Given the description of an element on the screen output the (x, y) to click on. 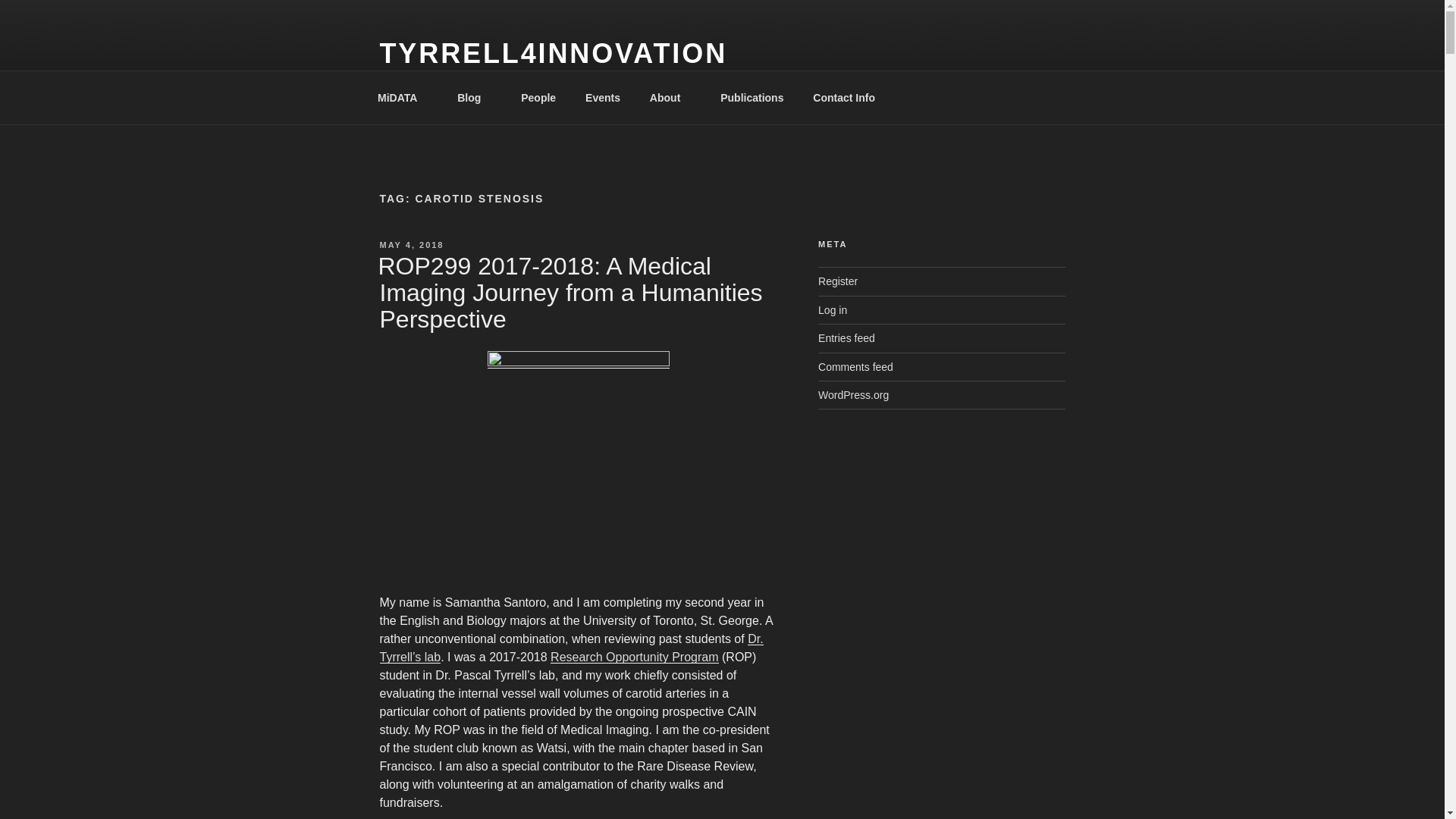
Research Opportunity Program (633, 656)
Publications (751, 97)
About (669, 97)
Blog (474, 97)
Contact Info (843, 97)
MiDATA (402, 97)
MAY 4, 2018 (411, 244)
People (538, 97)
Events (602, 97)
TYRRELL4INNOVATION (552, 52)
